Given the description of an element on the screen output the (x, y) to click on. 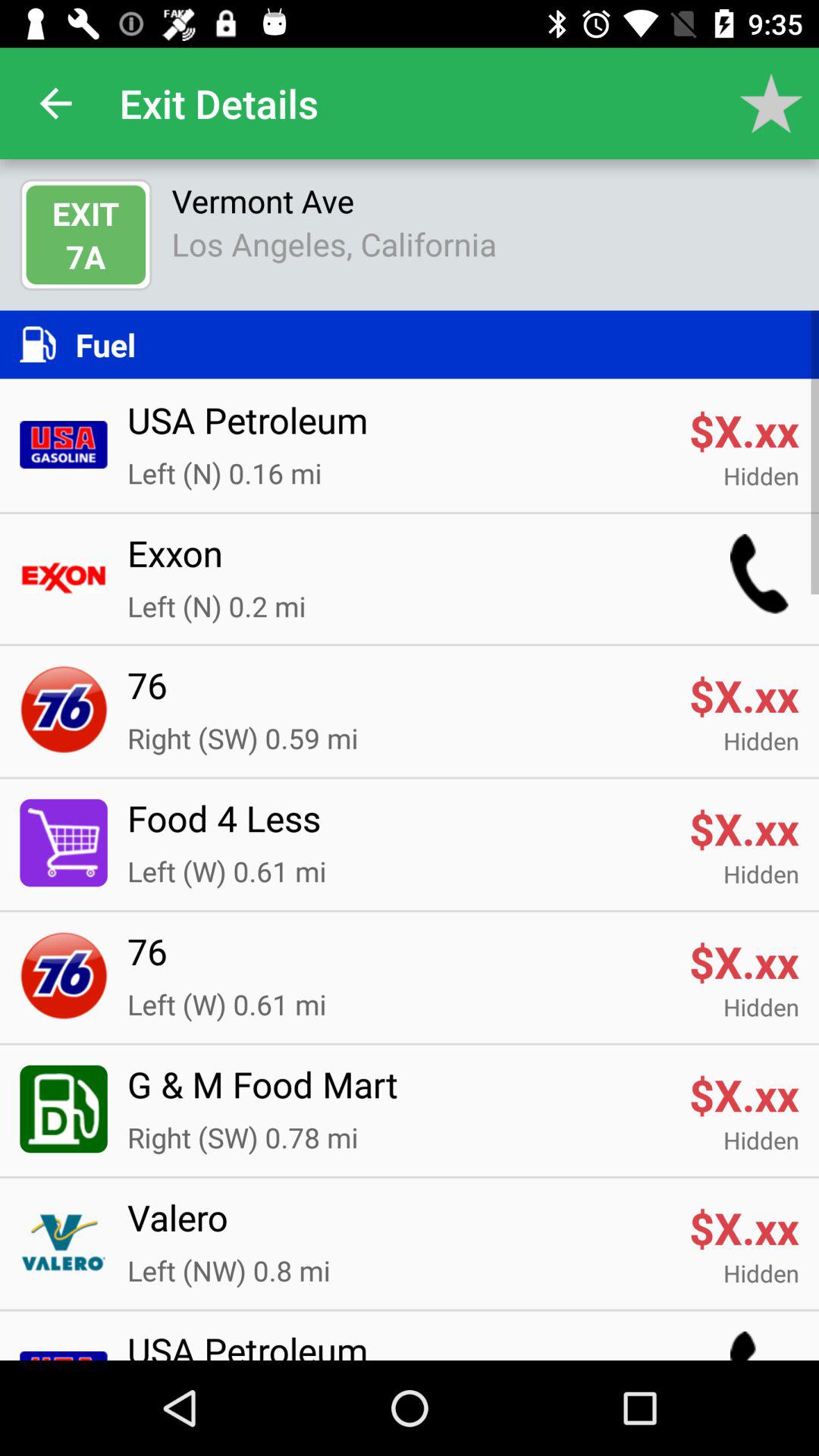
turn off the g m food item (398, 1093)
